Given the description of an element on the screen output the (x, y) to click on. 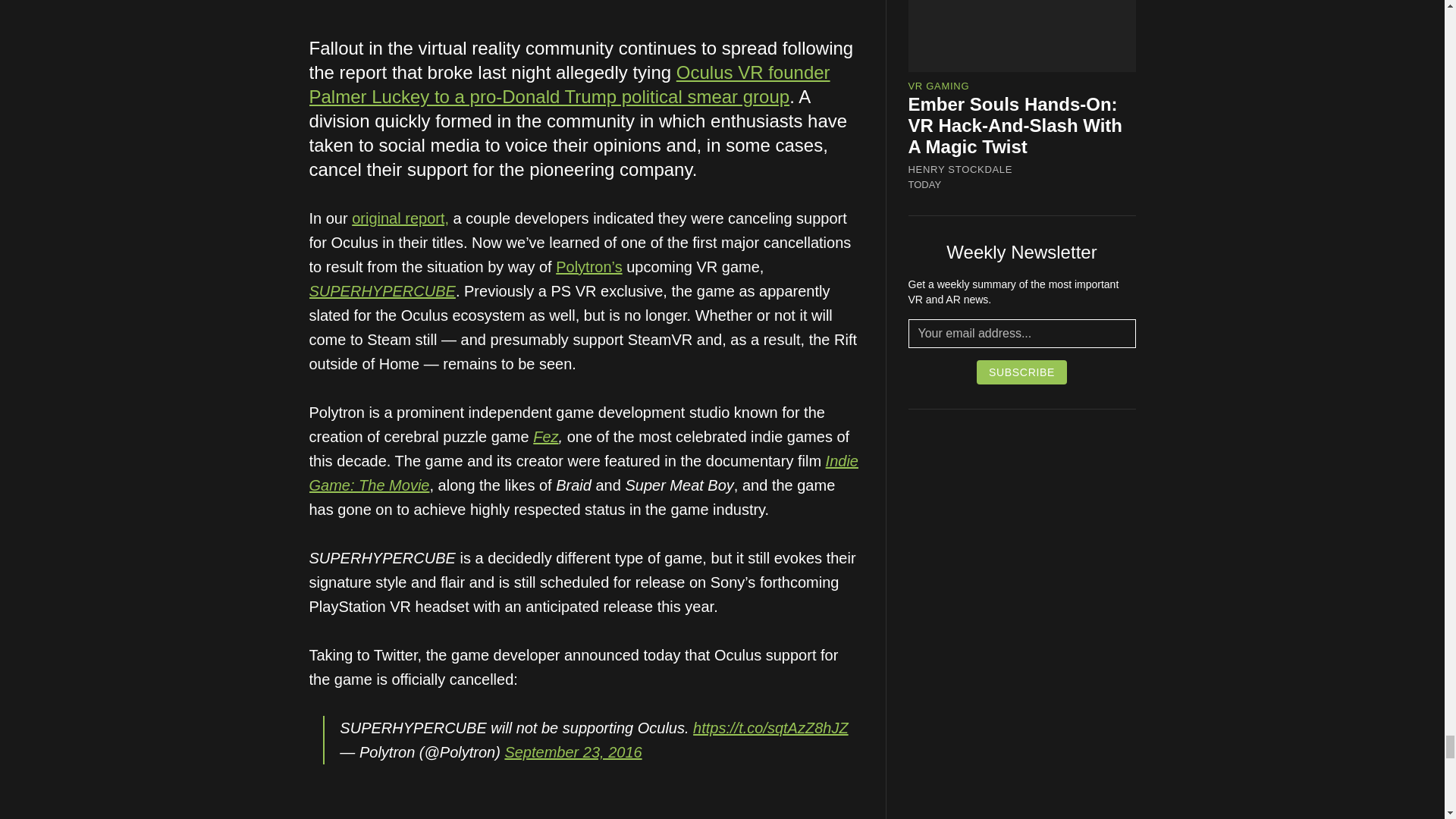
SUPERHYPERCUBE (381, 290)
Ember Souls Hands-On: VR Hack-And-Slash With A Magic Twist (1015, 125)
Fez (544, 436)
Indie Game: The Movie (583, 472)
Pastebin text (438, 817)
September 23, 2016 (572, 751)
HENRY STOCKDALE (960, 169)
Subscribe (1021, 372)
VR GAMING (938, 85)
